Given the description of an element on the screen output the (x, y) to click on. 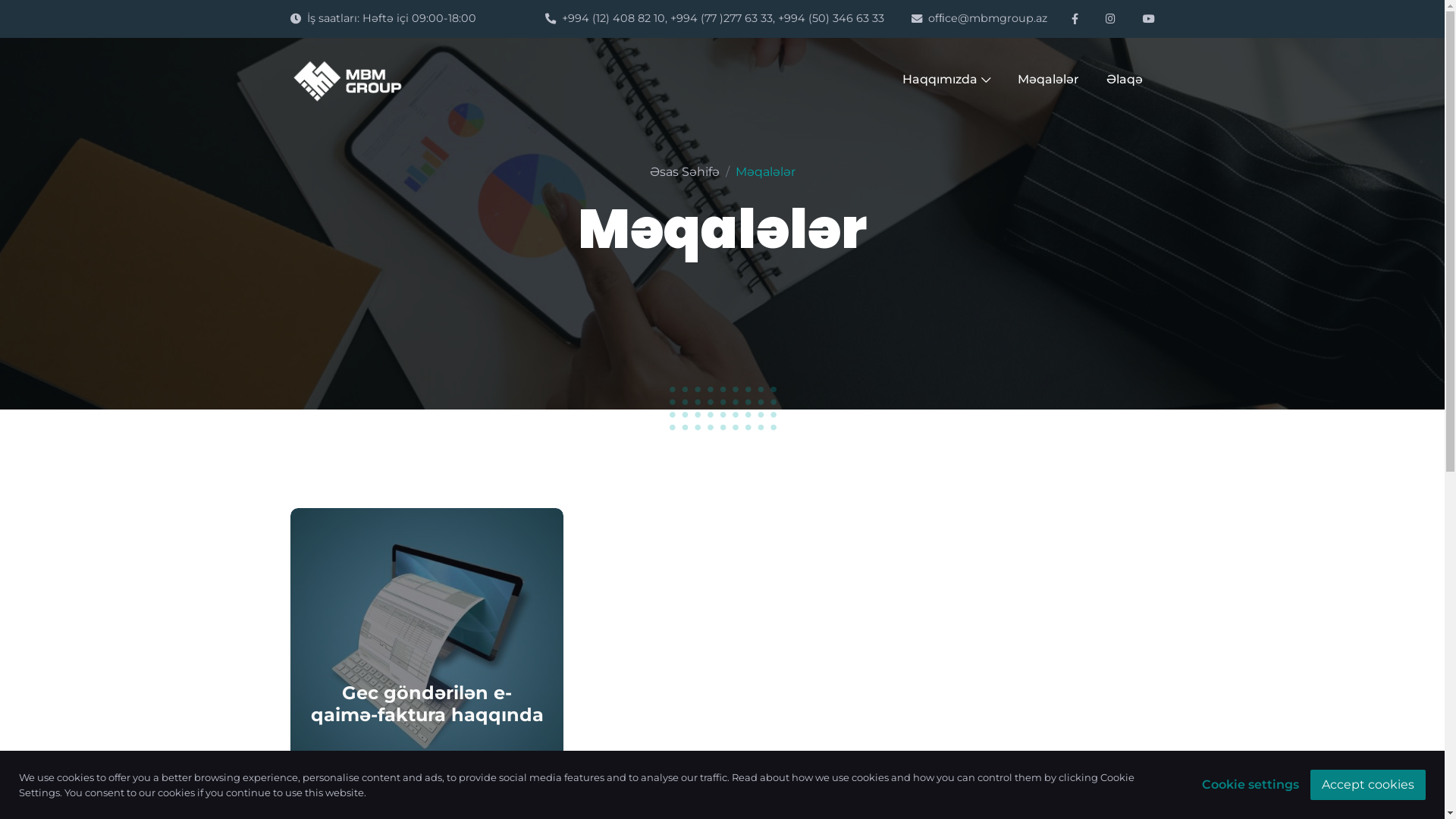
Cookie settings Element type: text (1250, 784)
Accept cookies Element type: text (1367, 784)
